Given the description of an element on the screen output the (x, y) to click on. 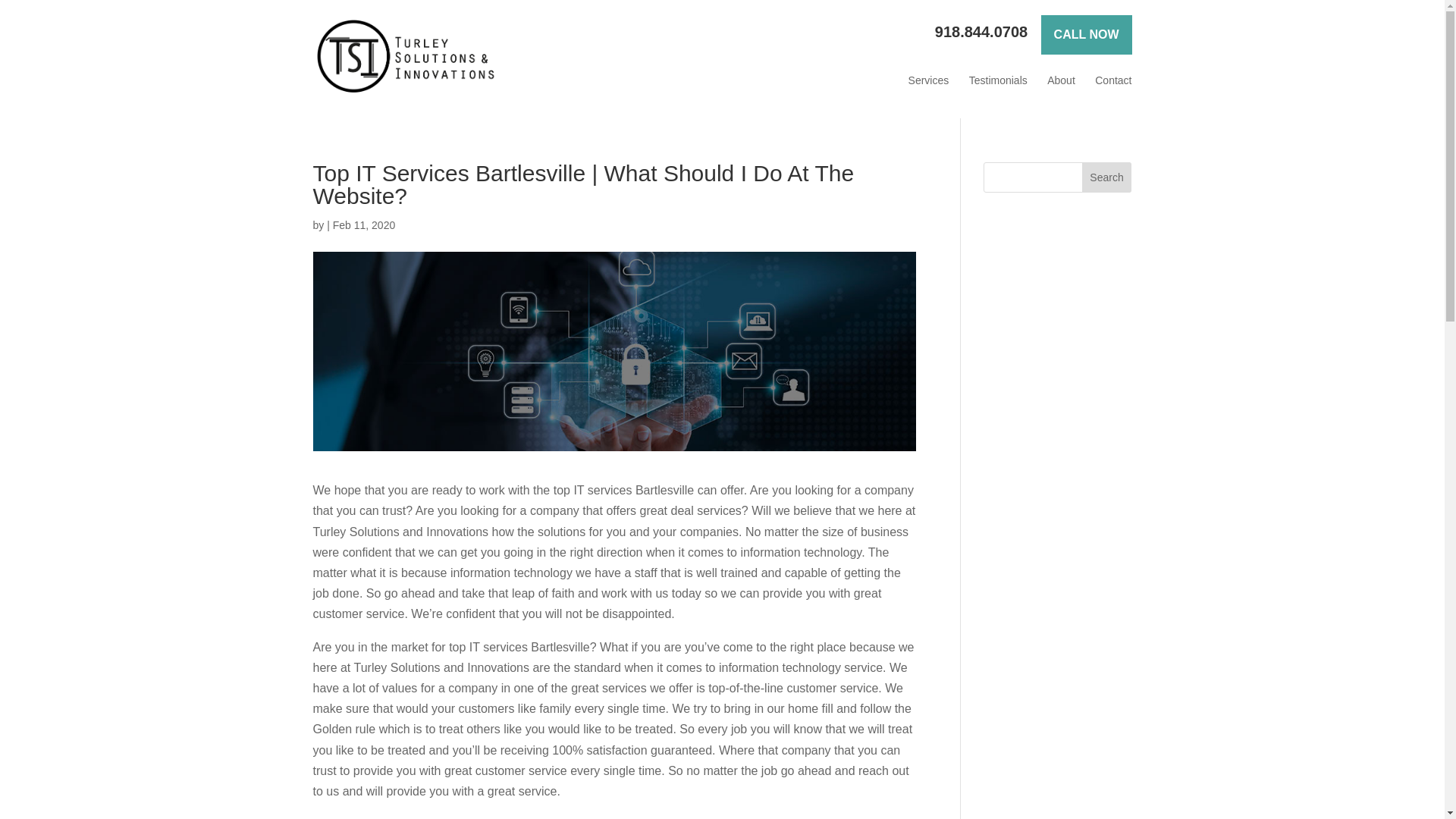
Testimonials (998, 80)
CALL NOW (1086, 34)
Search (1106, 177)
Search (1106, 177)
Contact (1112, 80)
918.844.0708 (980, 32)
About (1060, 80)
Services (928, 80)
